Given the description of an element on the screen output the (x, y) to click on. 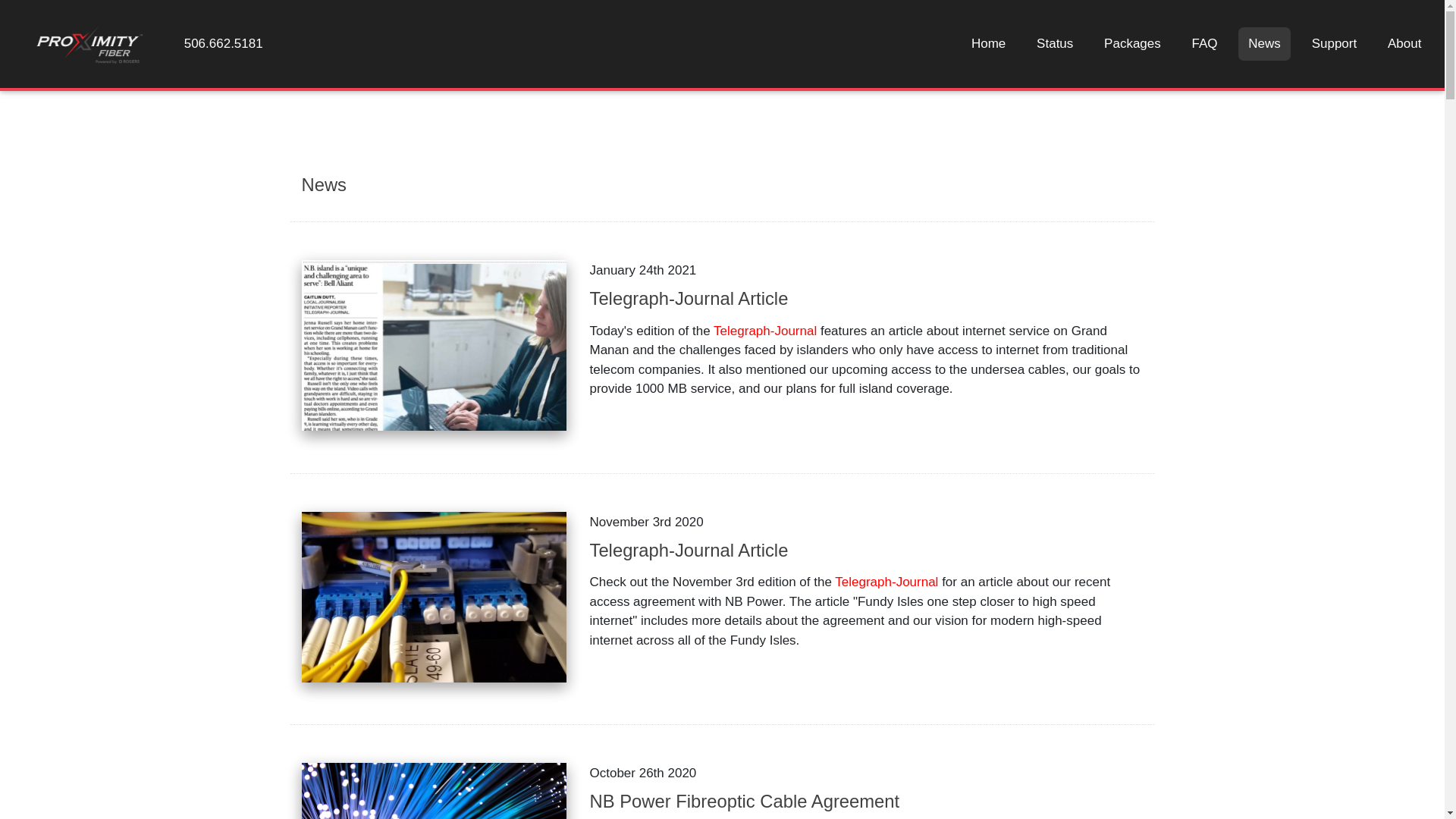
FAQ (1203, 43)
Status (1054, 43)
About (1404, 43)
Telegraph-Journal (885, 581)
News (1265, 43)
Support (1334, 43)
Telegraph-Journal (764, 330)
506.662.5181 (223, 43)
Home (988, 43)
Packages (1131, 43)
